Given the description of an element on the screen output the (x, y) to click on. 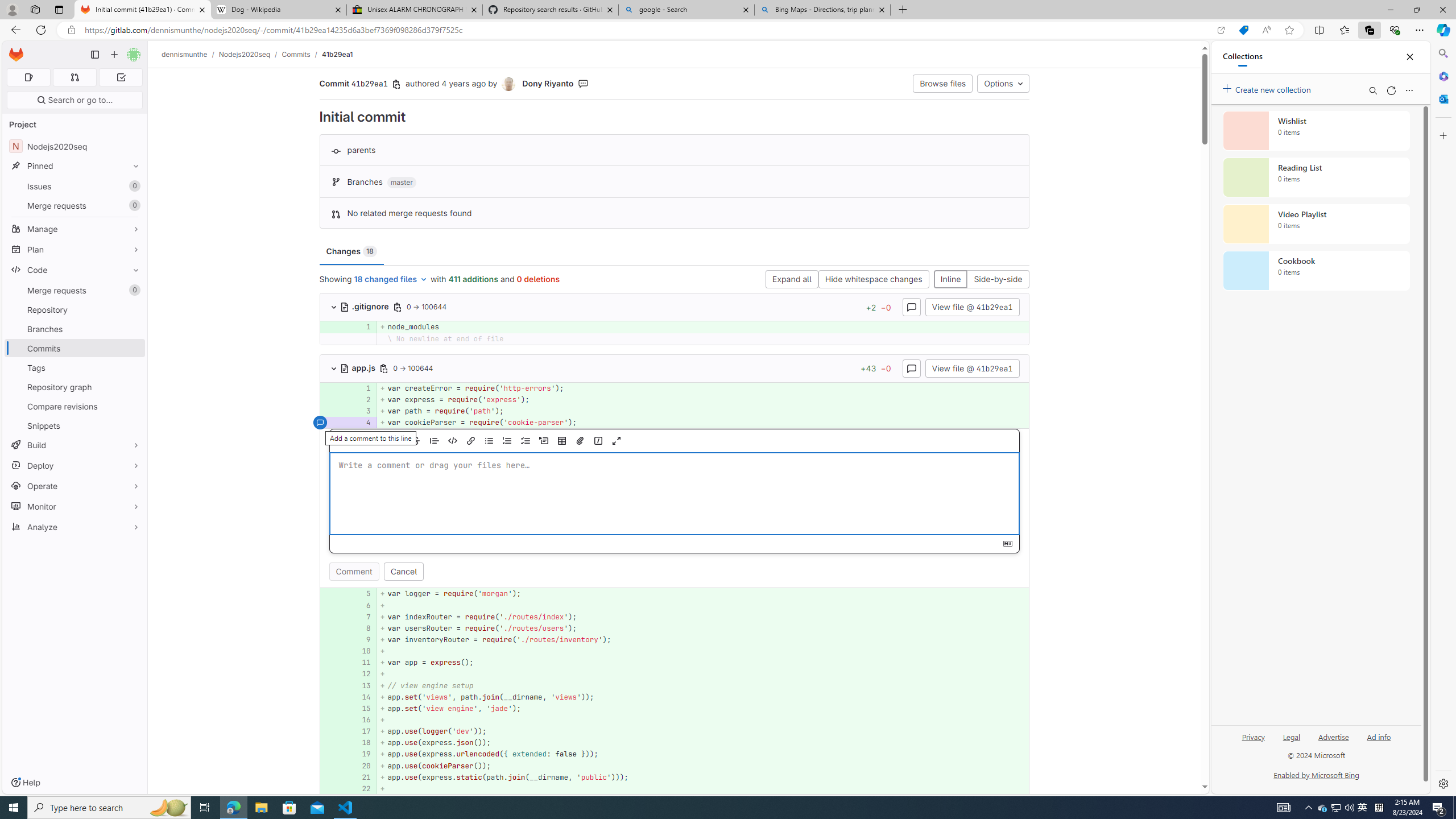
Compare revisions (74, 406)
41b29ea1 (337, 53)
master (401, 182)
+ app.use(express.static(path.join(__dirname, 'public')));  (703, 776)
10 (360, 651)
Monitor (74, 506)
Cookbook collection, 0 items (1316, 270)
View file @ 41b29ea1 (971, 367)
AutomationID: 4a68969ef8e858229267b842dedf42ab5dde4d50_0_13 (674, 685)
14 (362, 696)
AutomationID: 4a68969ef8e858229267b842dedf42ab5dde4d50_0_4 (674, 422)
AutomationID: 4a68969ef8e858229267b842dedf42ab5dde4d50_0_10 (674, 651)
